Given the description of an element on the screen output the (x, y) to click on. 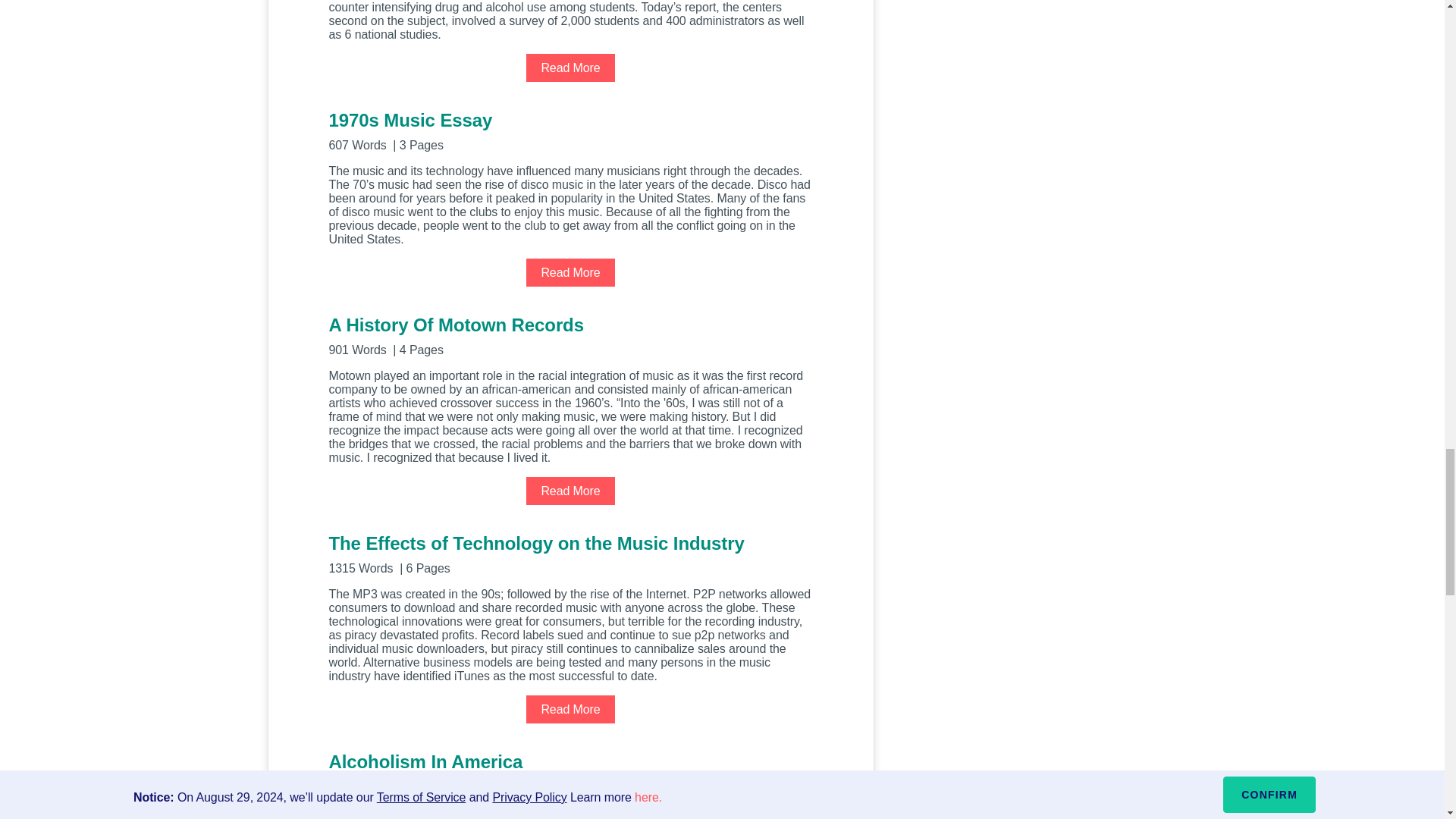
Read More (569, 709)
1970s Music Essay (570, 129)
Read More (569, 67)
Alcoholism In America (570, 771)
Read More (569, 272)
A History Of Motown Records (570, 334)
The Effects of Technology on the Music Industry (570, 552)
Read More (569, 490)
